Given the description of an element on the screen output the (x, y) to click on. 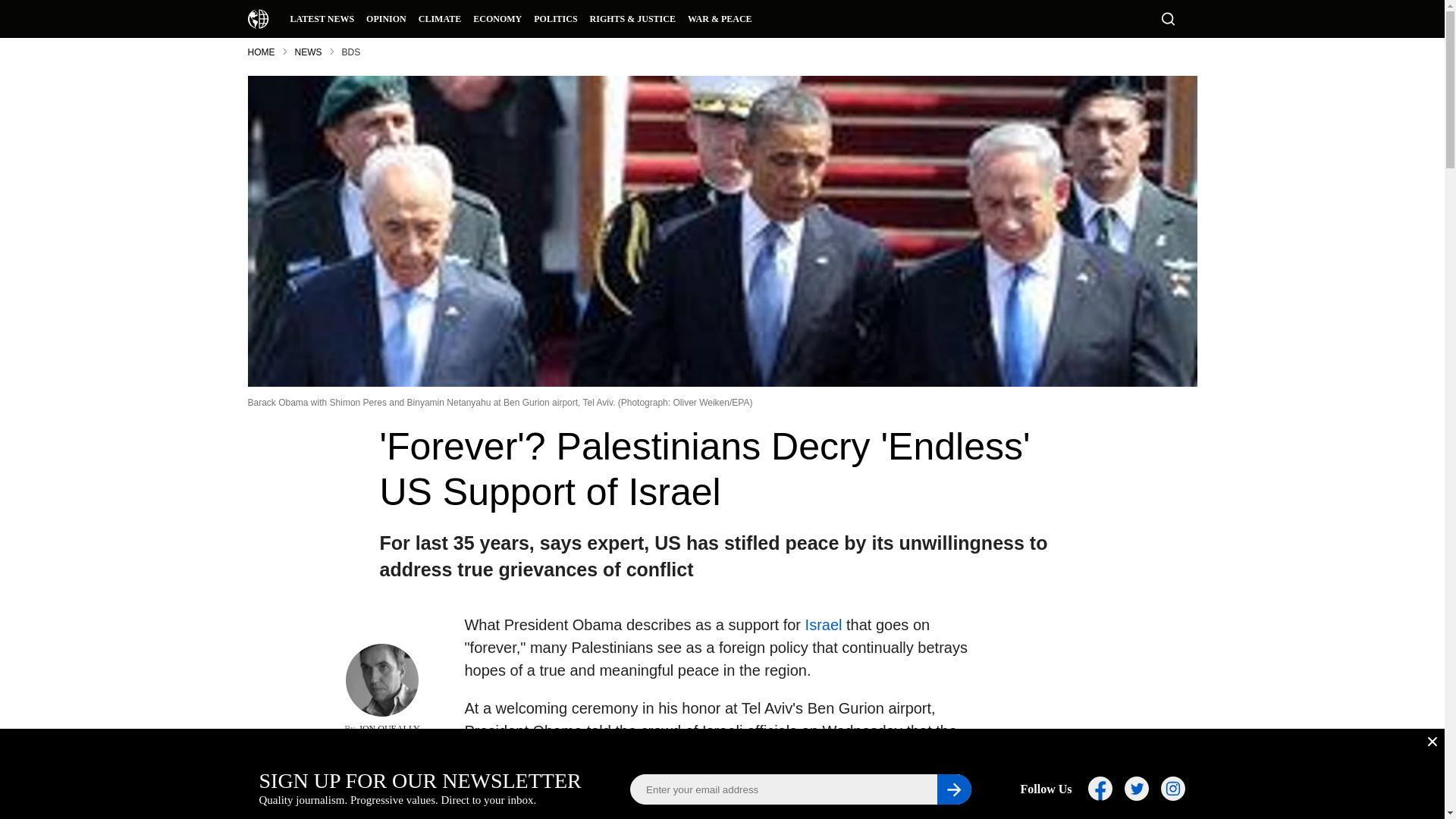
POLITICS (555, 18)
ECONOMY (497, 18)
CLIMATE (439, 18)
LATEST NEWS (321, 18)
Common Dreams (257, 17)
OPINION (385, 18)
